Given the description of an element on the screen output the (x, y) to click on. 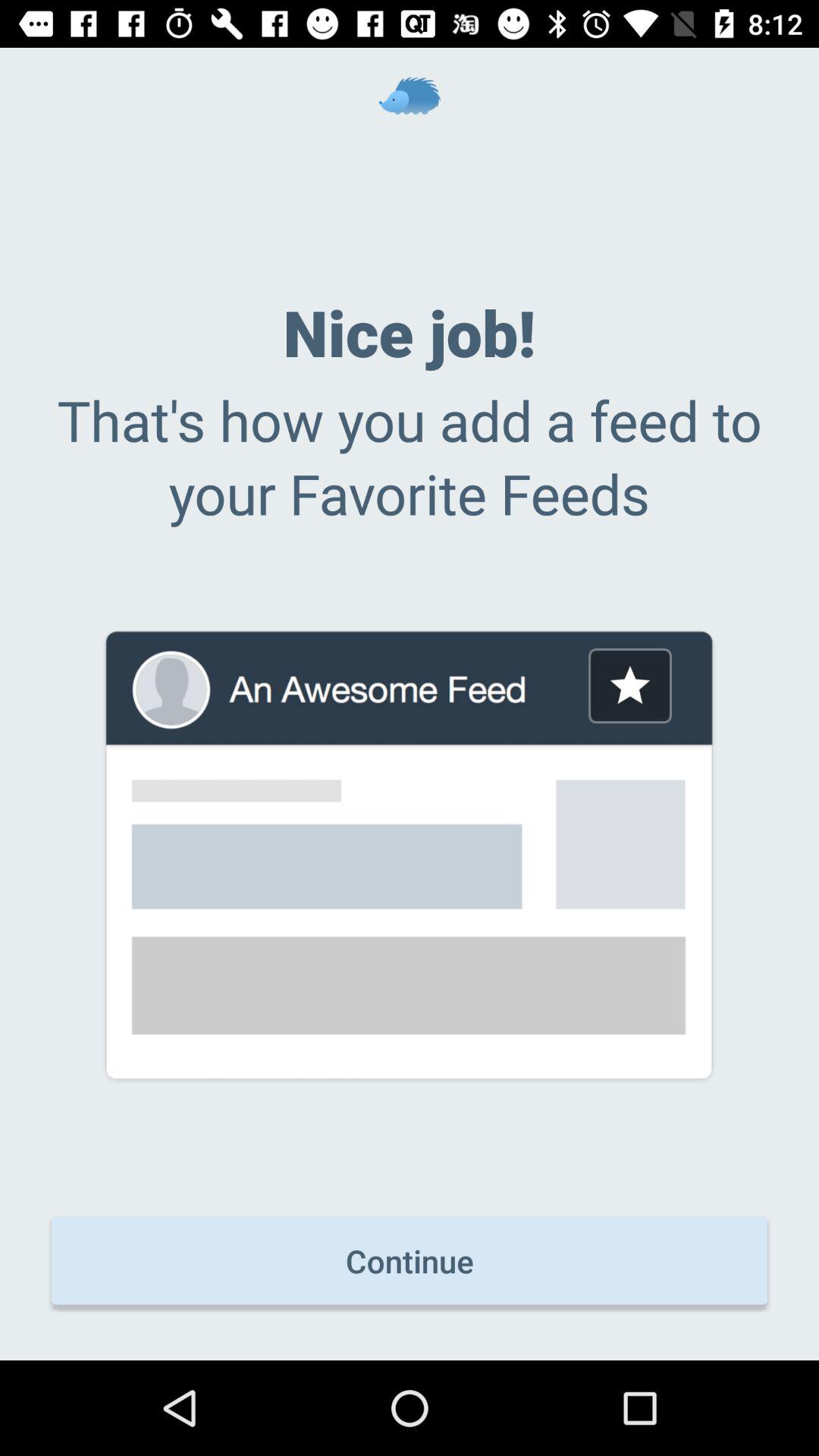
click the icon below the that s how item (629, 685)
